Given the description of an element on the screen output the (x, y) to click on. 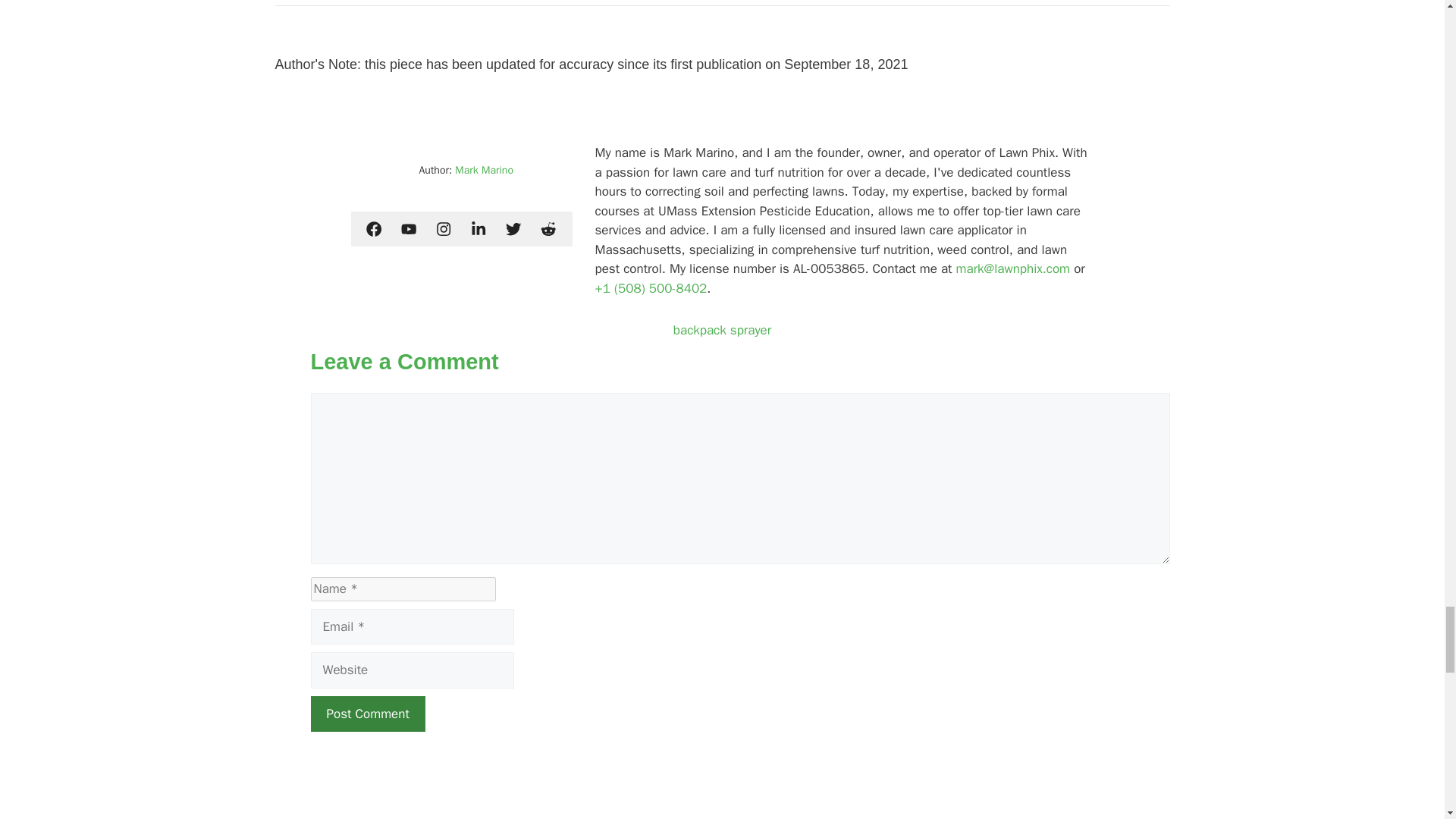
Post Comment (368, 714)
